Given the description of an element on the screen output the (x, y) to click on. 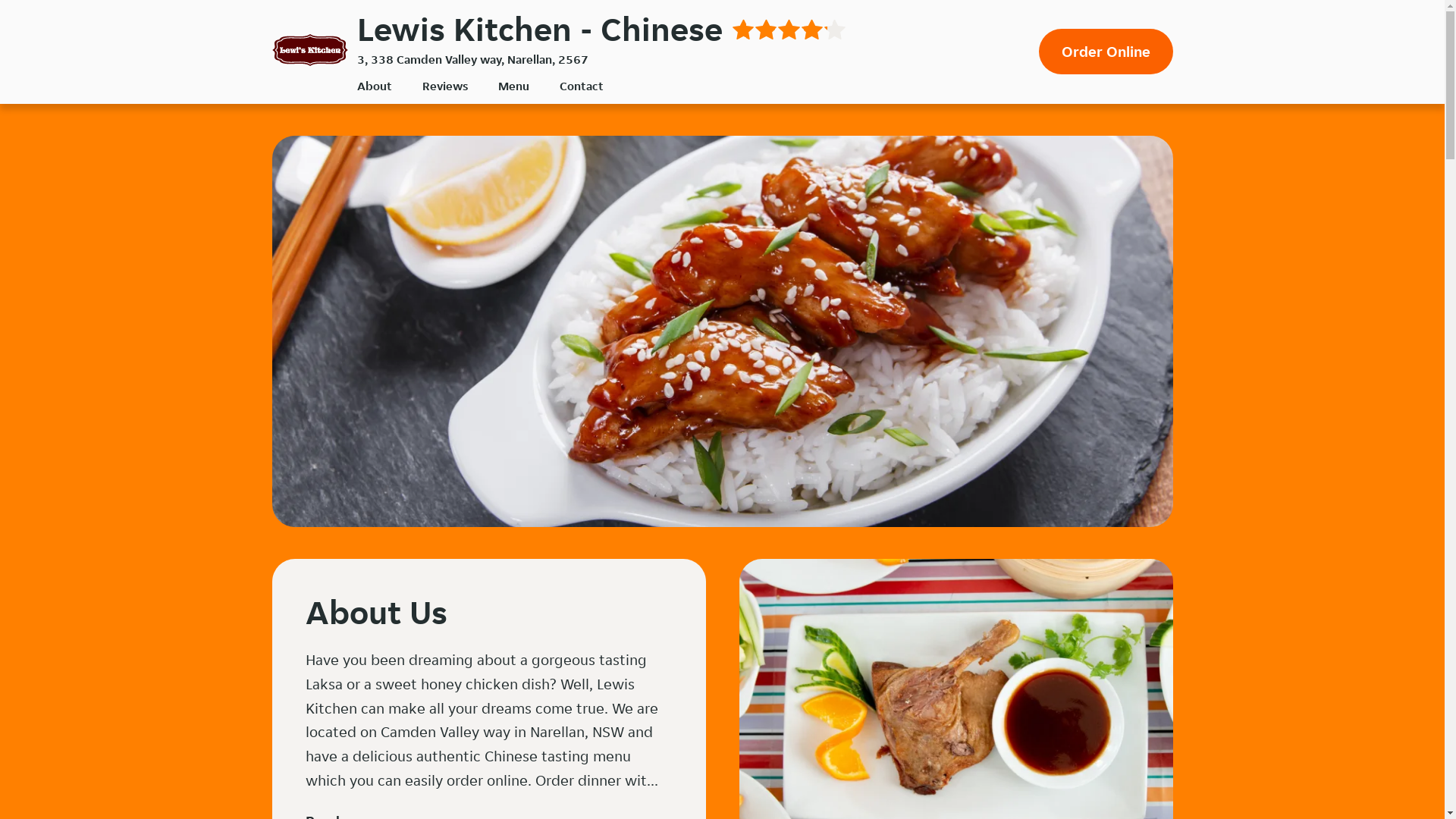
Reviews Element type: text (444, 86)
Lewis Kitchen Element type: hover (309, 49)
About Element type: text (373, 86)
Menu Element type: text (512, 86)
Order Online Element type: text (1105, 51)
Contact Element type: text (581, 86)
